Given the description of an element on the screen output the (x, y) to click on. 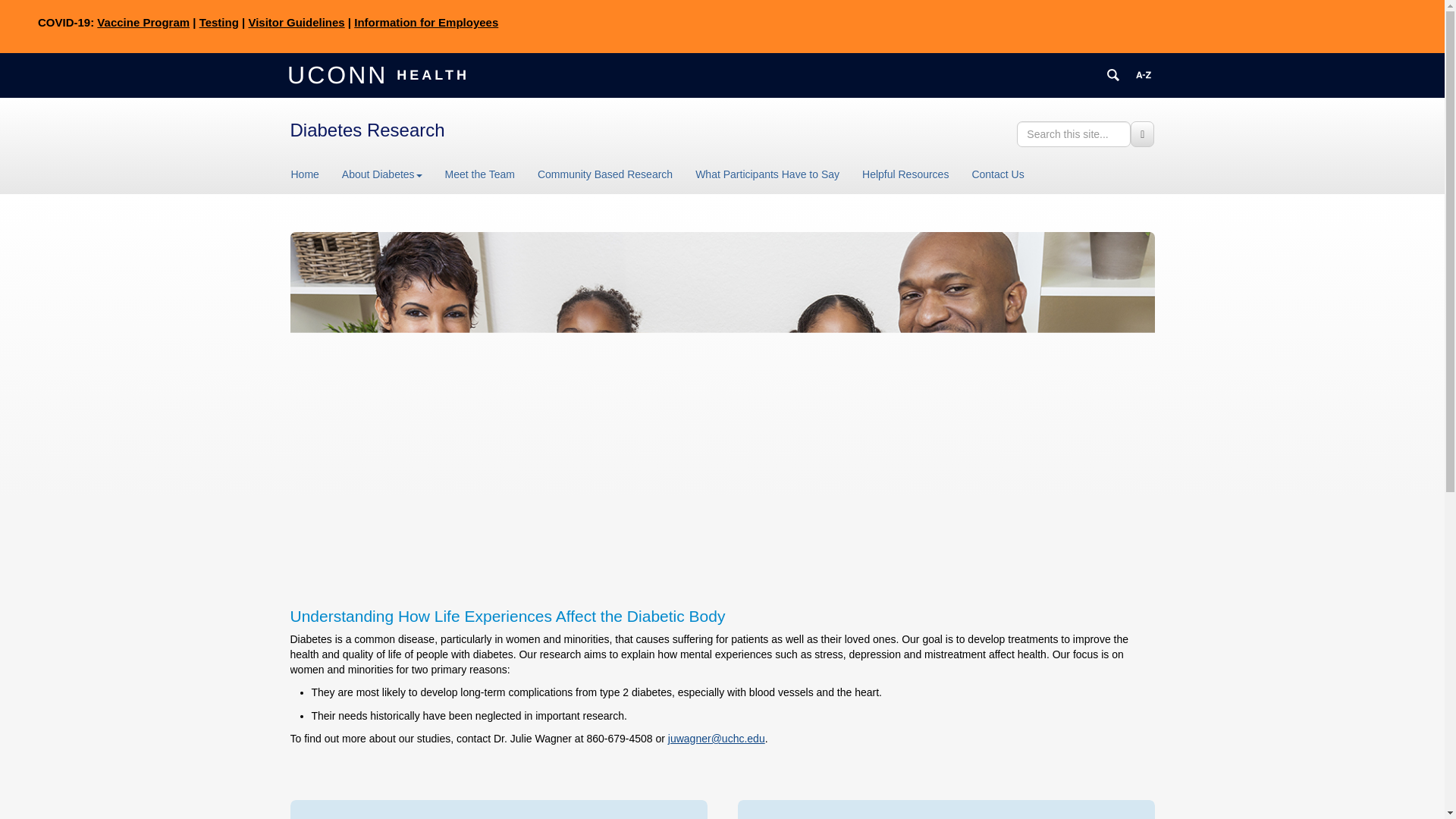
Vaccine Program (143, 21)
Community Based Research (604, 174)
Helpful Resources (904, 174)
Search UConn Health (1112, 74)
Information for Employees (425, 21)
About Diabetes (381, 174)
UCONN (340, 73)
UConn Health A to Z Index (1143, 74)
Search this site...  (1073, 134)
Home (310, 174)
What Participants Have to Say (767, 174)
Visitor Guidelines (295, 21)
Testing (218, 21)
Meet the Team (479, 174)
